Given the description of an element on the screen output the (x, y) to click on. 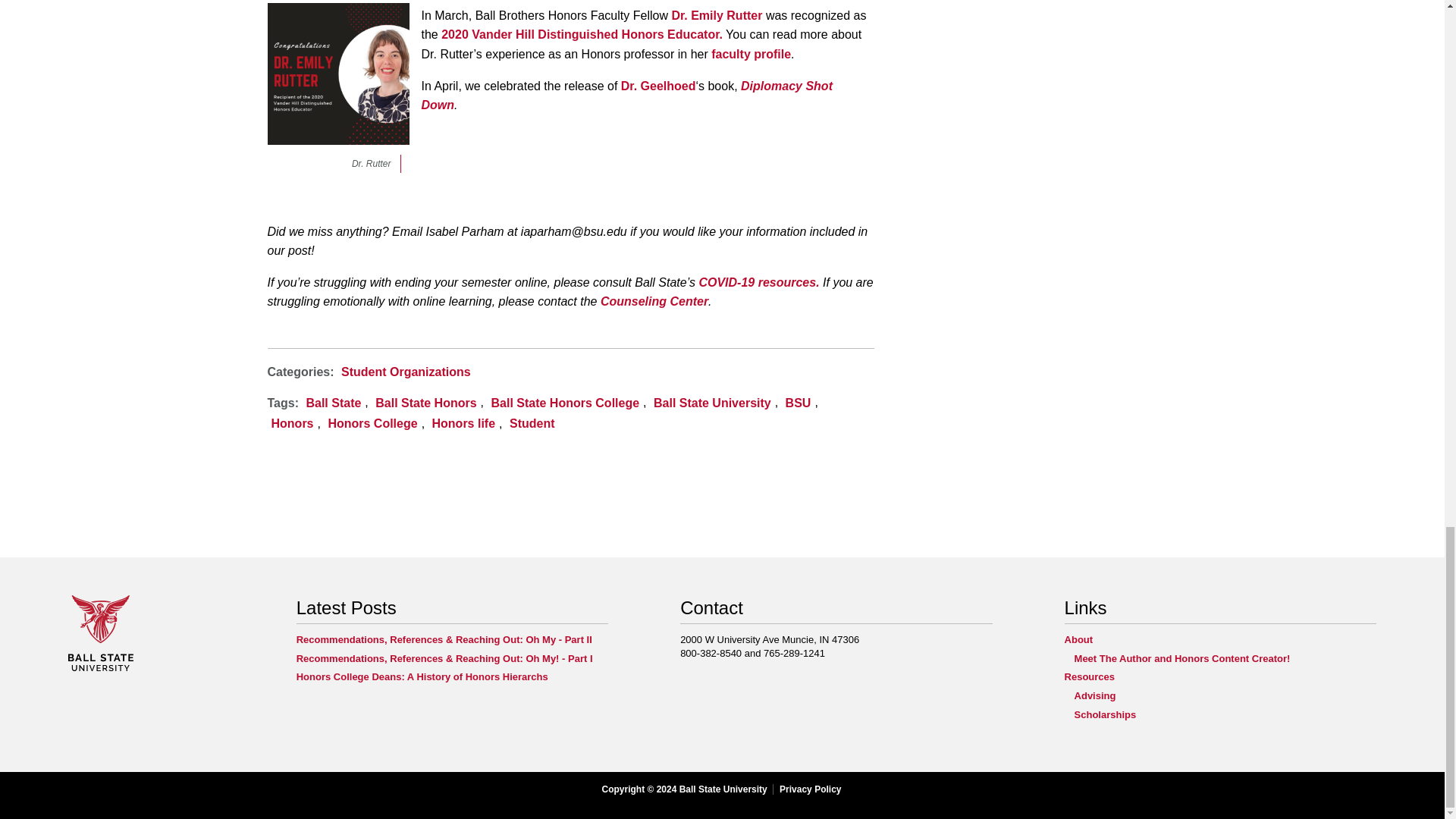
COVID-19 resources. (758, 282)
Counseling Center (653, 300)
Student Organizations (405, 371)
Ball State University (712, 402)
Ball State Honors (425, 402)
2020 Vander Hill Distinguished Honors Educator. (581, 33)
faculty profile (750, 53)
Learn more about Ball State University (100, 667)
Diplomacy Shot Down (627, 95)
Dr. Geelhoed (658, 85)
Ball State (333, 402)
Ball State Honors College (566, 402)
Dr. Emily Rutter (716, 15)
